Given the description of an element on the screen output the (x, y) to click on. 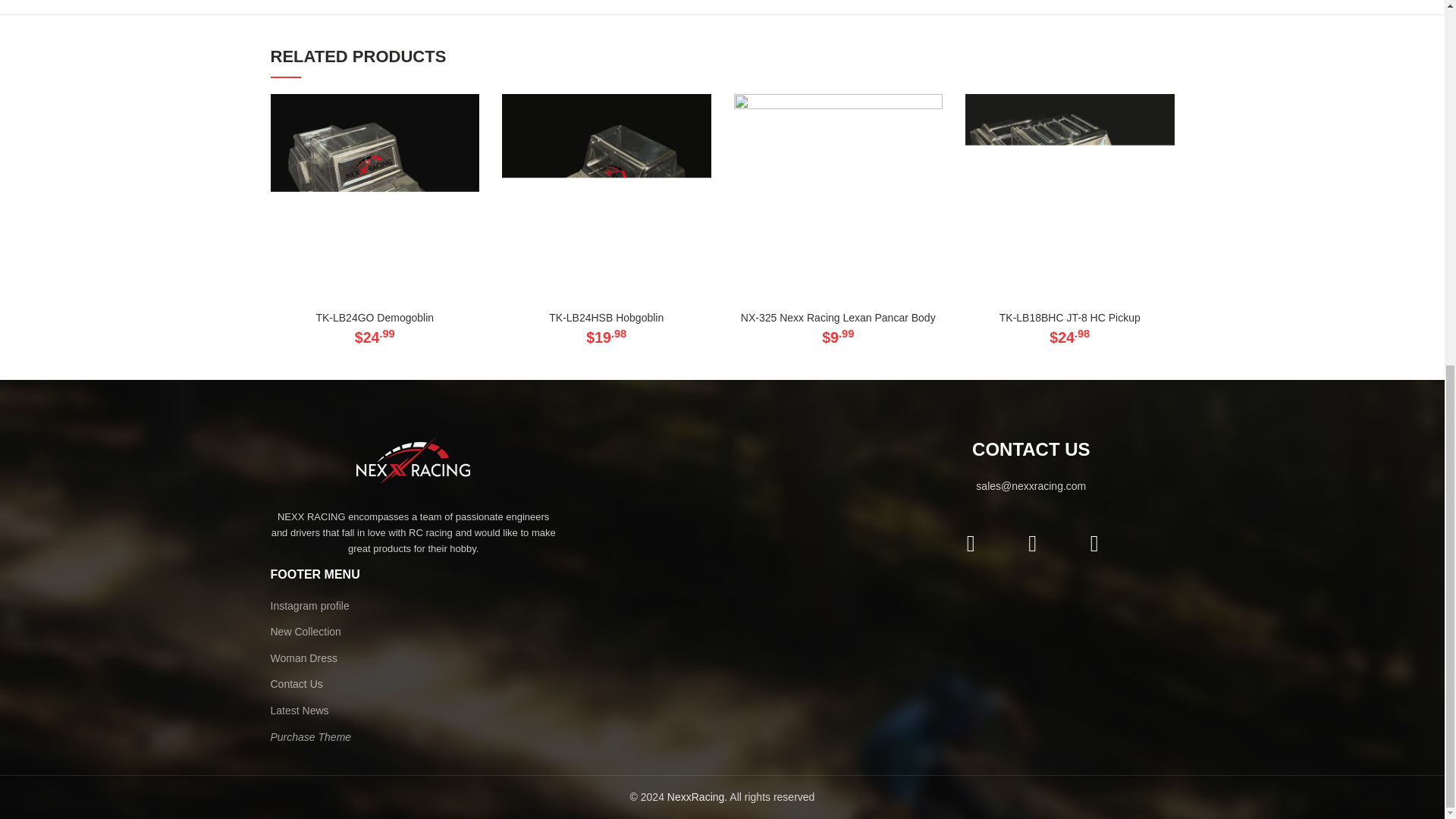
Follow Us on Youtube (1094, 543)
Follow Us on Facebook (971, 543)
NexxRacing-logo-white (413, 459)
Follow Us on Instagram (1032, 543)
